Given the description of an element on the screen output the (x, y) to click on. 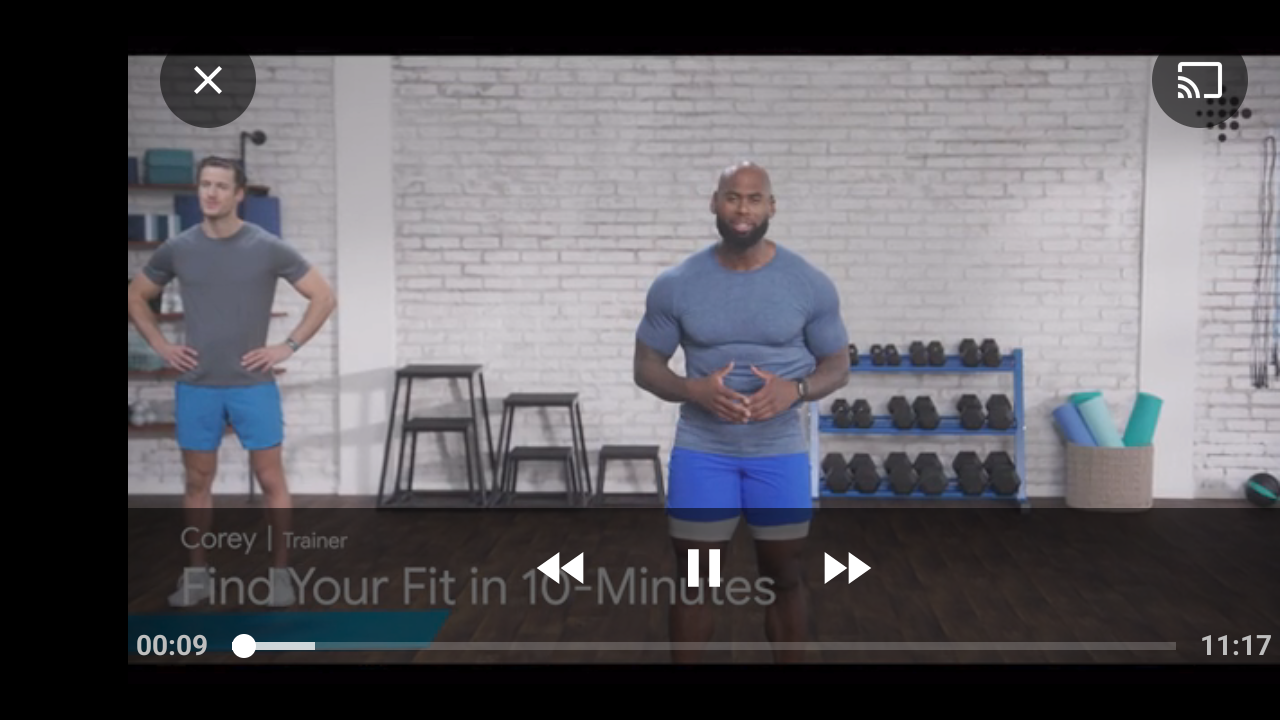
Cast. Disconnected (1200, 79)
Rewind (562, 567)
Pause (703, 567)
Fast forward (845, 567)
